Given the description of an element on the screen output the (x, y) to click on. 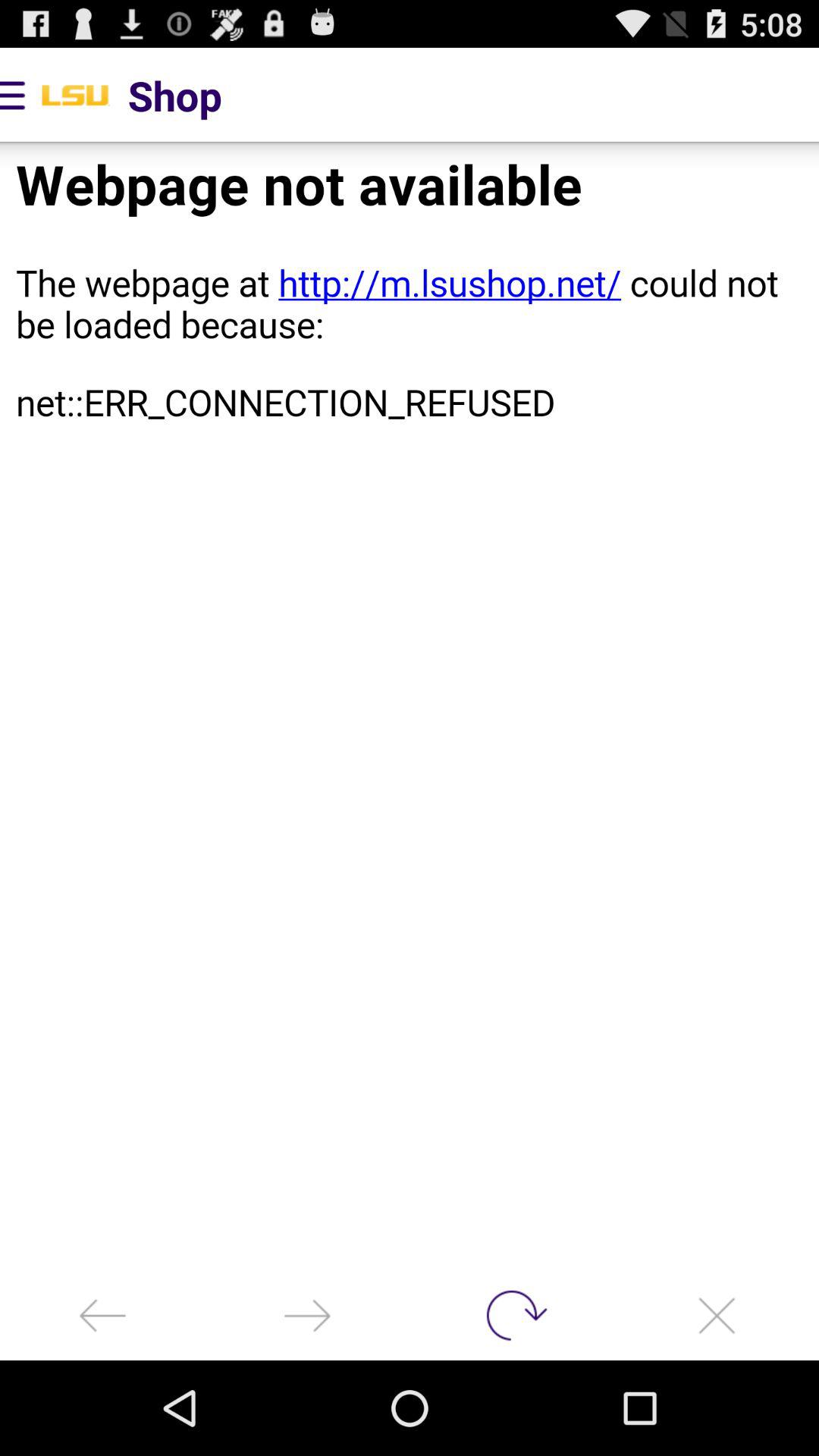
close app (716, 1315)
